Given the description of an element on the screen output the (x, y) to click on. 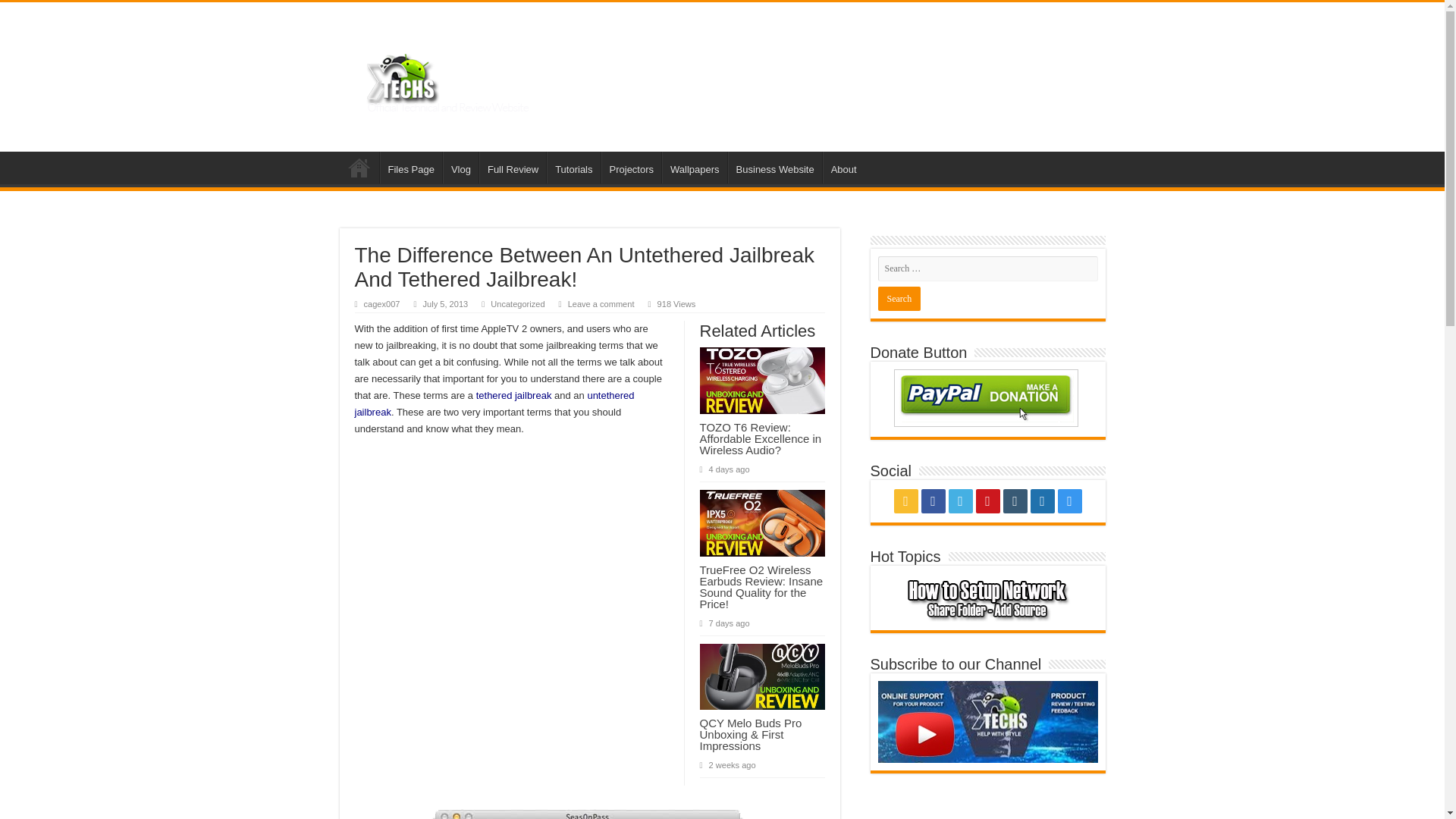
Business Website (775, 167)
TOZO T6 Review: Affordable Excellence in Wireless Audio? (759, 438)
About (843, 167)
Leave a comment (600, 303)
Projectors (631, 167)
Wallpapers (694, 167)
Full Review (512, 167)
Tutorials (573, 167)
Vlog (460, 167)
Files Page (409, 167)
